Given the description of an element on the screen output the (x, y) to click on. 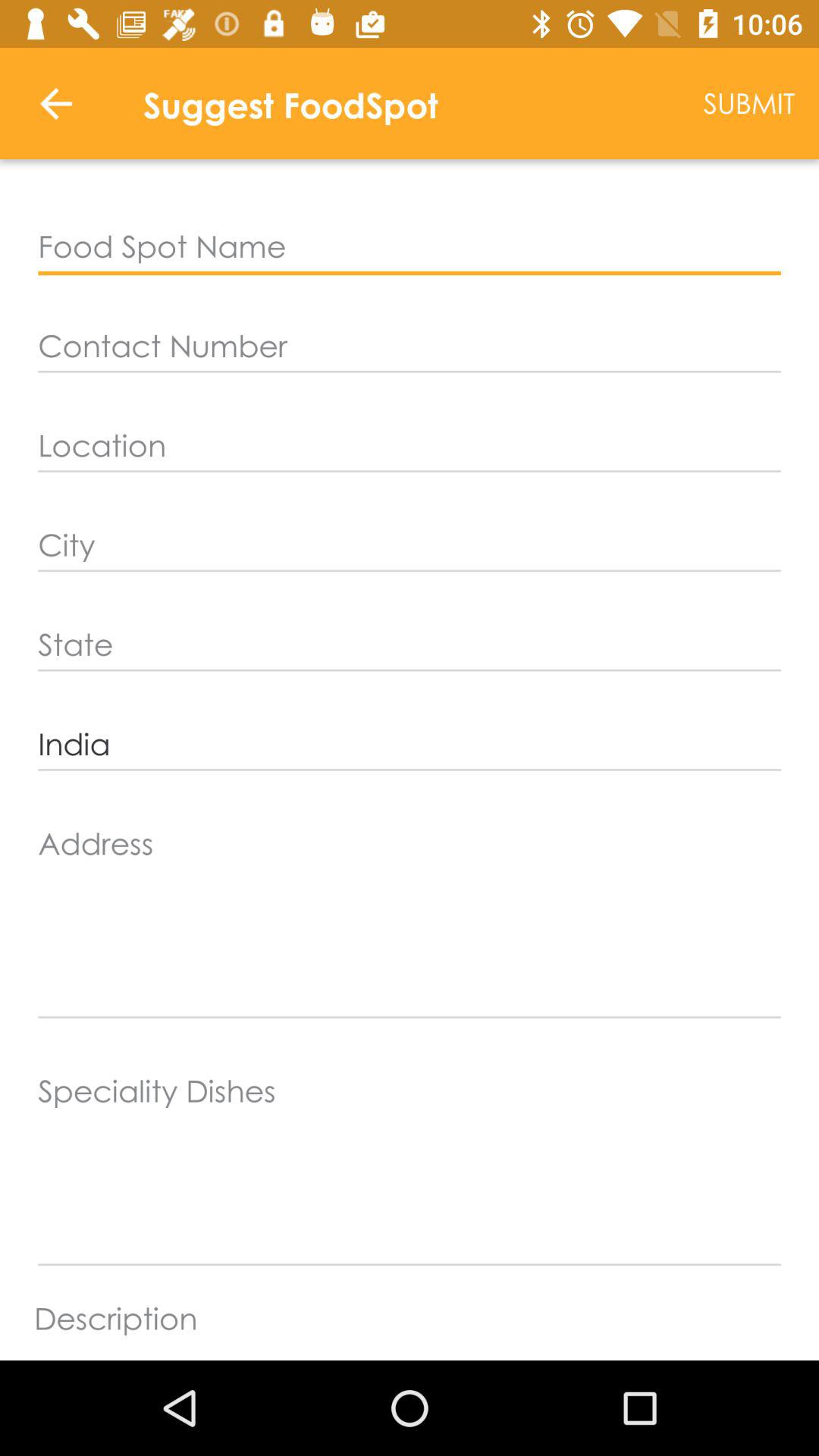
choose item to the left of suggest foodspot icon (55, 103)
